Given the description of an element on the screen output the (x, y) to click on. 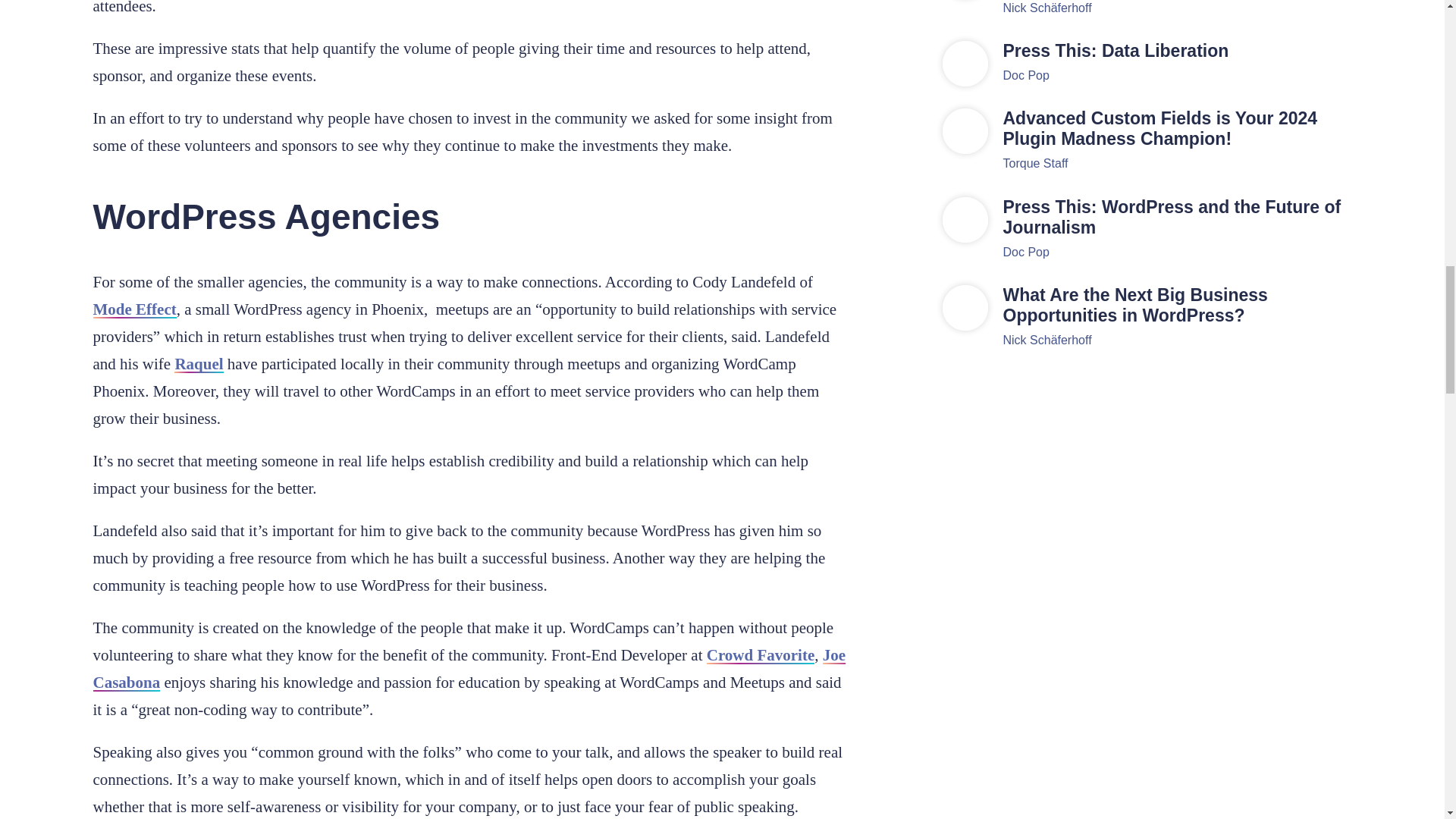
Mode Effect (134, 309)
Joe Casabona (469, 668)
Raquel (198, 363)
Crowd Favorite (760, 655)
